Given the description of an element on the screen output the (x, y) to click on. 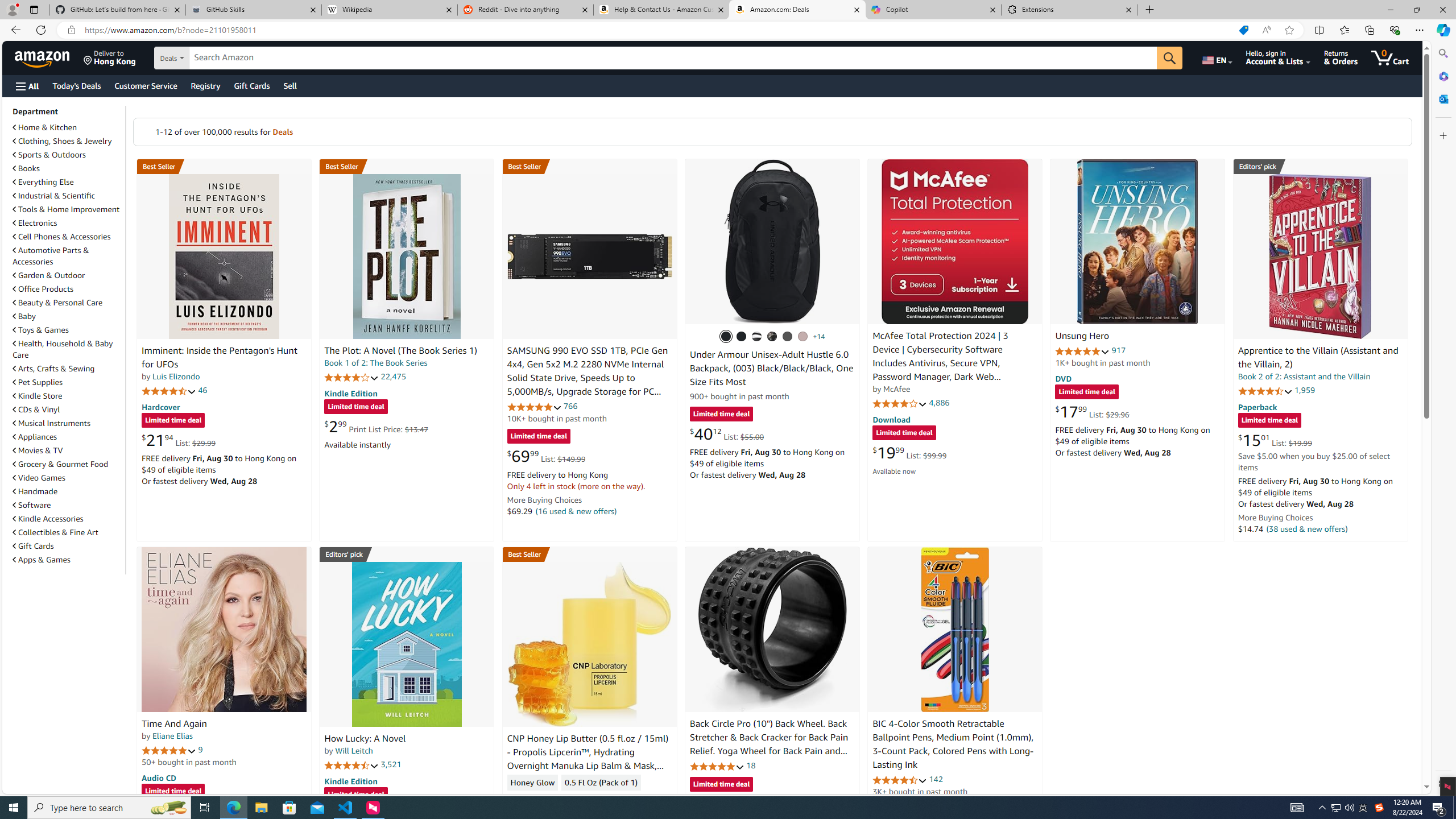
Everything Else (43, 181)
Pet Supplies (67, 382)
Home & Kitchen (67, 127)
Limited time deal (721, 784)
GitHub Skills (253, 9)
Apps & Games (41, 559)
Sports & Outdoors (49, 154)
Unsung Hero (1082, 336)
1,959 (1305, 390)
Industrial & Scientific (54, 195)
Garden & Outdoor (67, 274)
Automotive Parts & Accessories (50, 255)
